Given the description of an element on the screen output the (x, y) to click on. 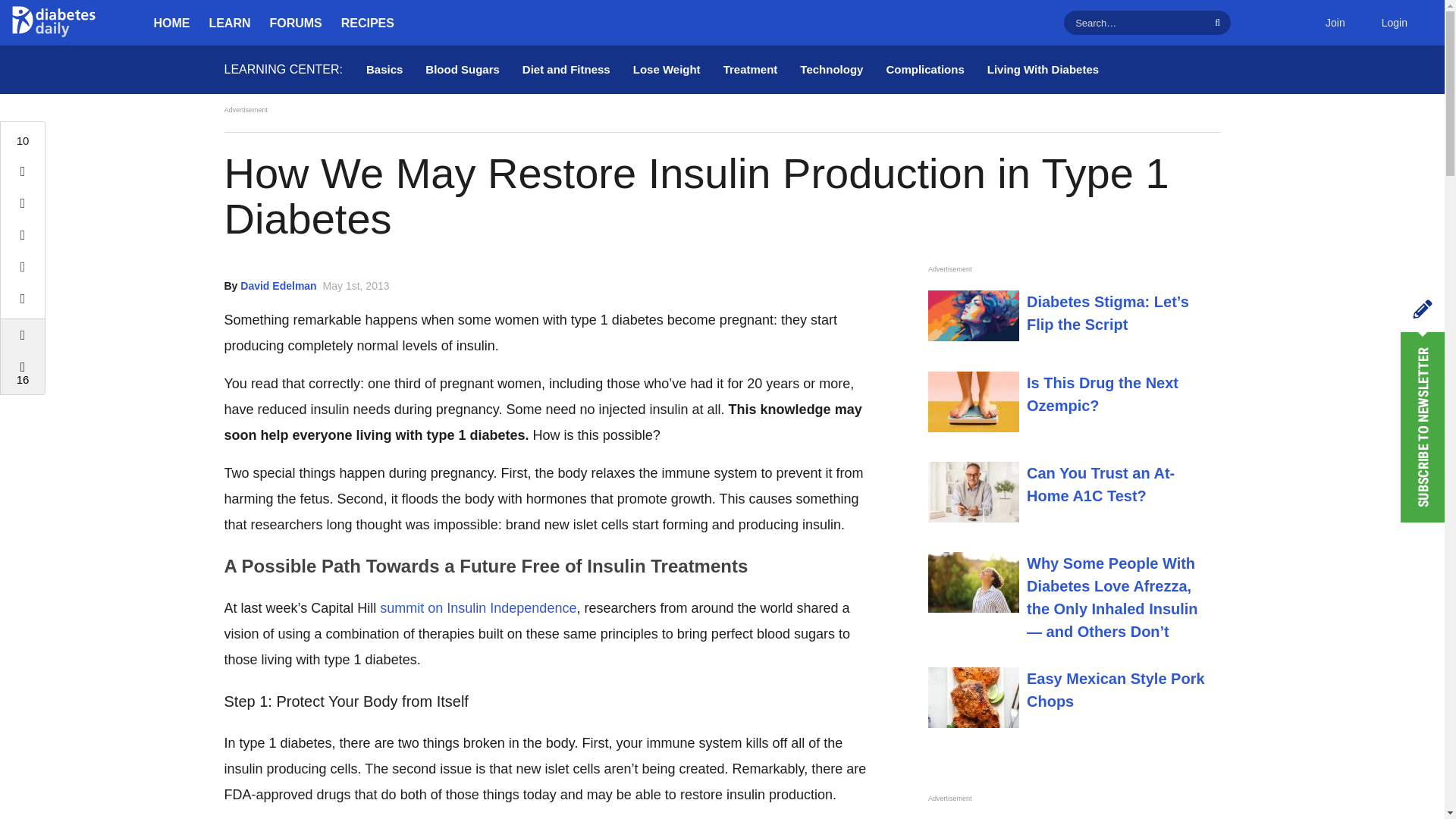
HOME (171, 22)
LEARN (229, 22)
Basics (384, 69)
FORUMS (295, 22)
RECIPES (367, 22)
Login (1393, 22)
Join (1334, 22)
